Given the description of an element on the screen output the (x, y) to click on. 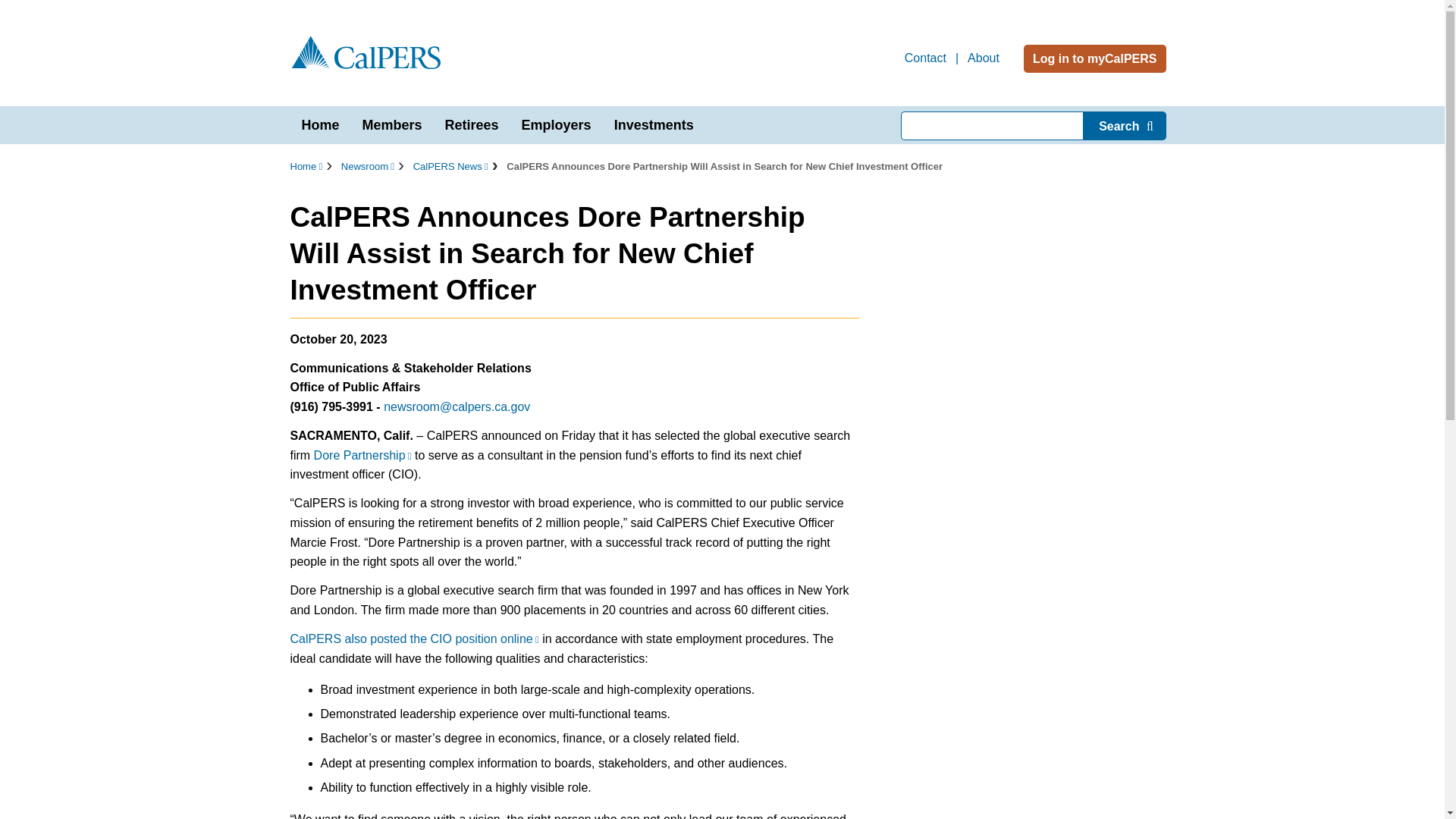
Members (391, 125)
Home (319, 125)
Search (1124, 125)
Opens in new window (363, 454)
Home (305, 165)
Employers (556, 125)
Contact (925, 58)
Log in to myCalPERS (1094, 59)
About (983, 58)
Retirees (472, 125)
CalPERS News (450, 165)
Newsroom (367, 165)
Investments (653, 125)
